Given the description of an element on the screen output the (x, y) to click on. 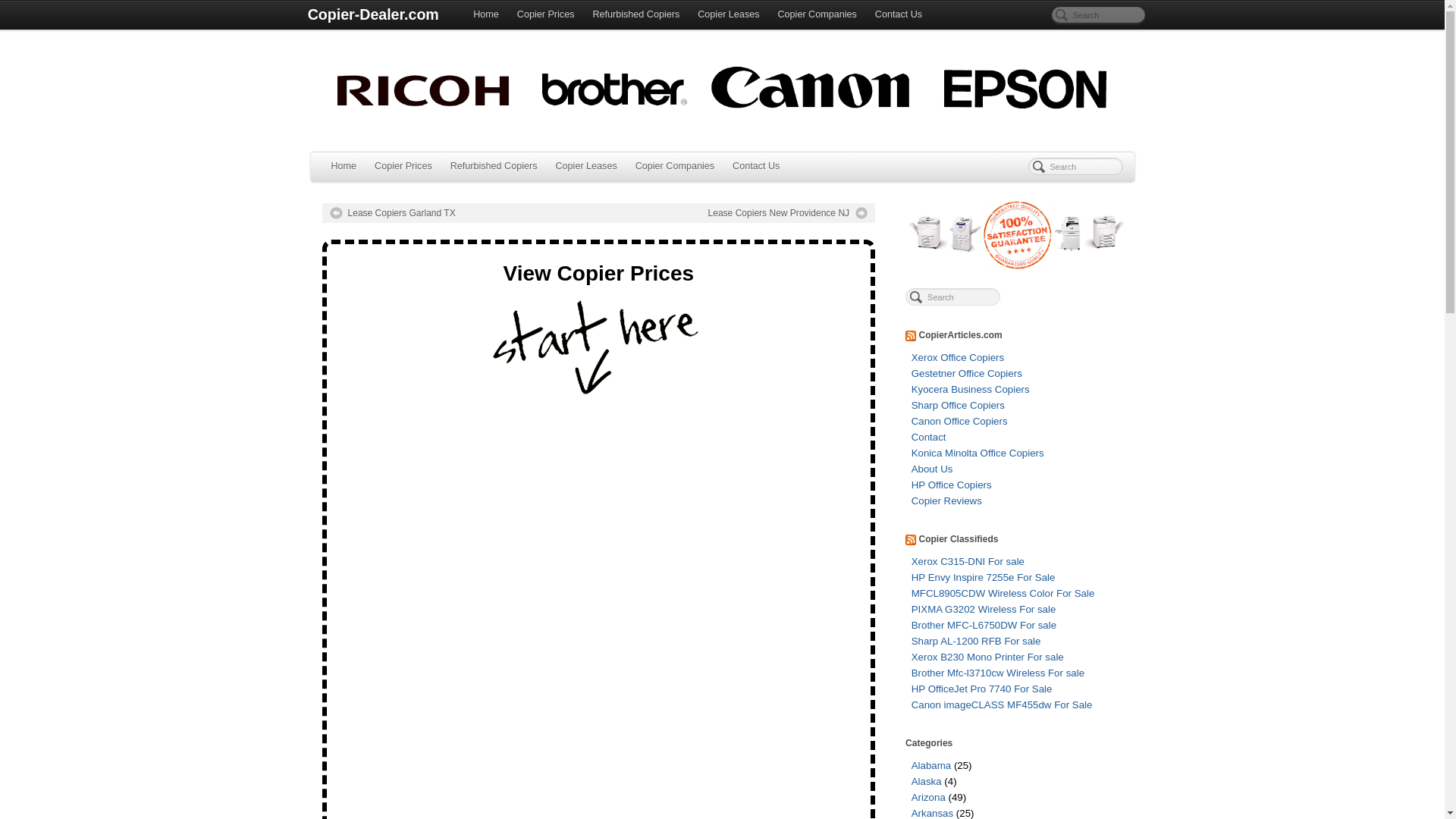
Refurbished Copiers (494, 166)
Contact (928, 437)
Sharp Office Copiers (957, 405)
Home (486, 14)
Kyocera Business Copiers (970, 389)
Canon Office Copiers (959, 420)
Lease Copiers New Providence NJ (787, 213)
Copier Companies (674, 166)
Lease Copiers Garland TX (391, 213)
Home (343, 166)
Gestetner Office Copiers (966, 373)
Refurbished Copiers (635, 14)
Copier Leases (586, 166)
Contact Us (756, 166)
